Given the description of an element on the screen output the (x, y) to click on. 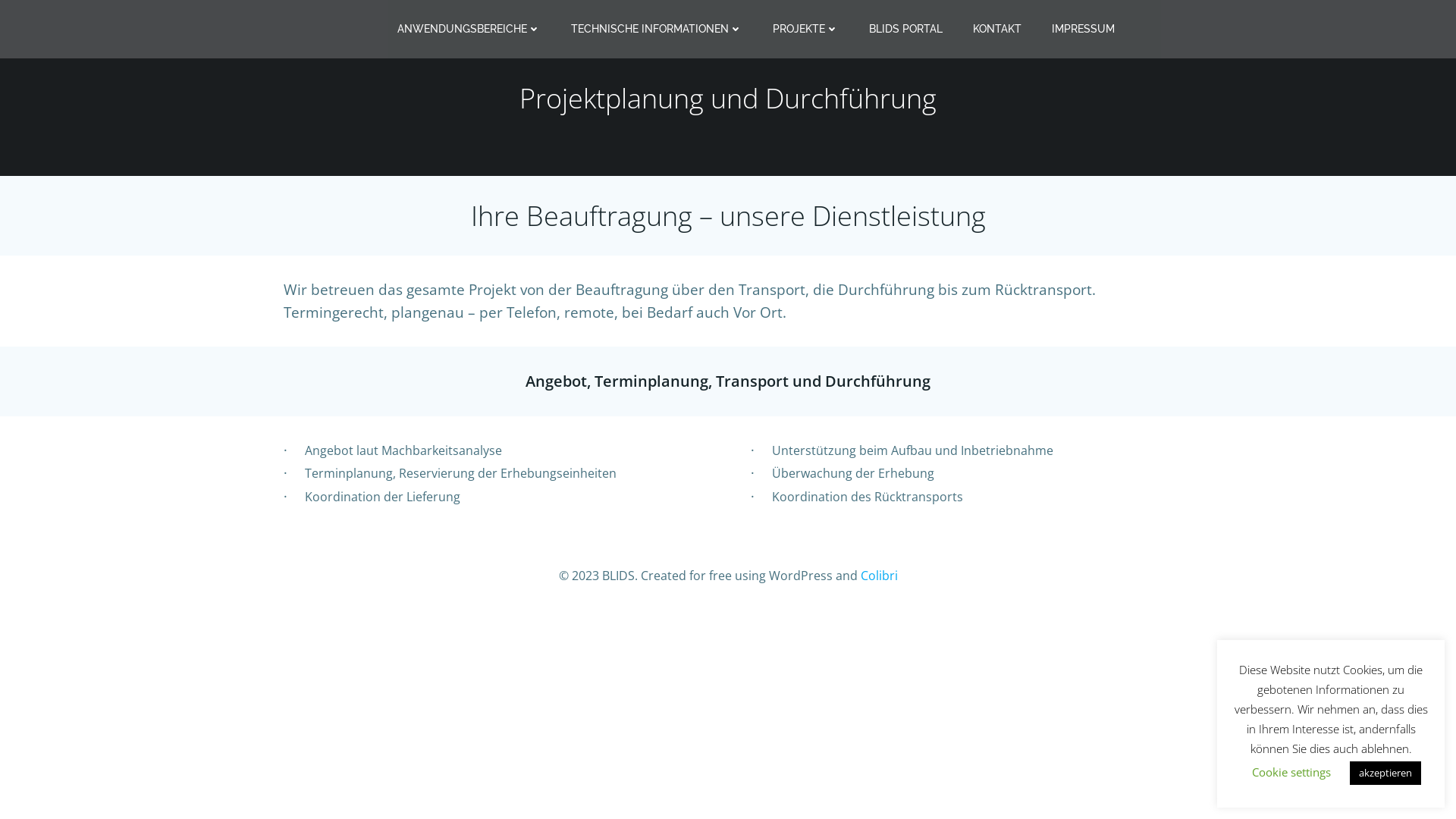
KONTAKT Element type: text (996, 29)
PROJEKTE Element type: text (805, 29)
IMPRESSUM Element type: text (1082, 29)
BLIDS PORTAL Element type: text (905, 29)
Colibri Element type: text (878, 575)
TECHNISCHE INFORMATIONEN Element type: text (656, 29)
ANWENDUNGSBEREICHE Element type: text (468, 29)
akzeptieren Element type: text (1385, 772)
Cookie settings Element type: text (1291, 771)
